Given the description of an element on the screen output the (x, y) to click on. 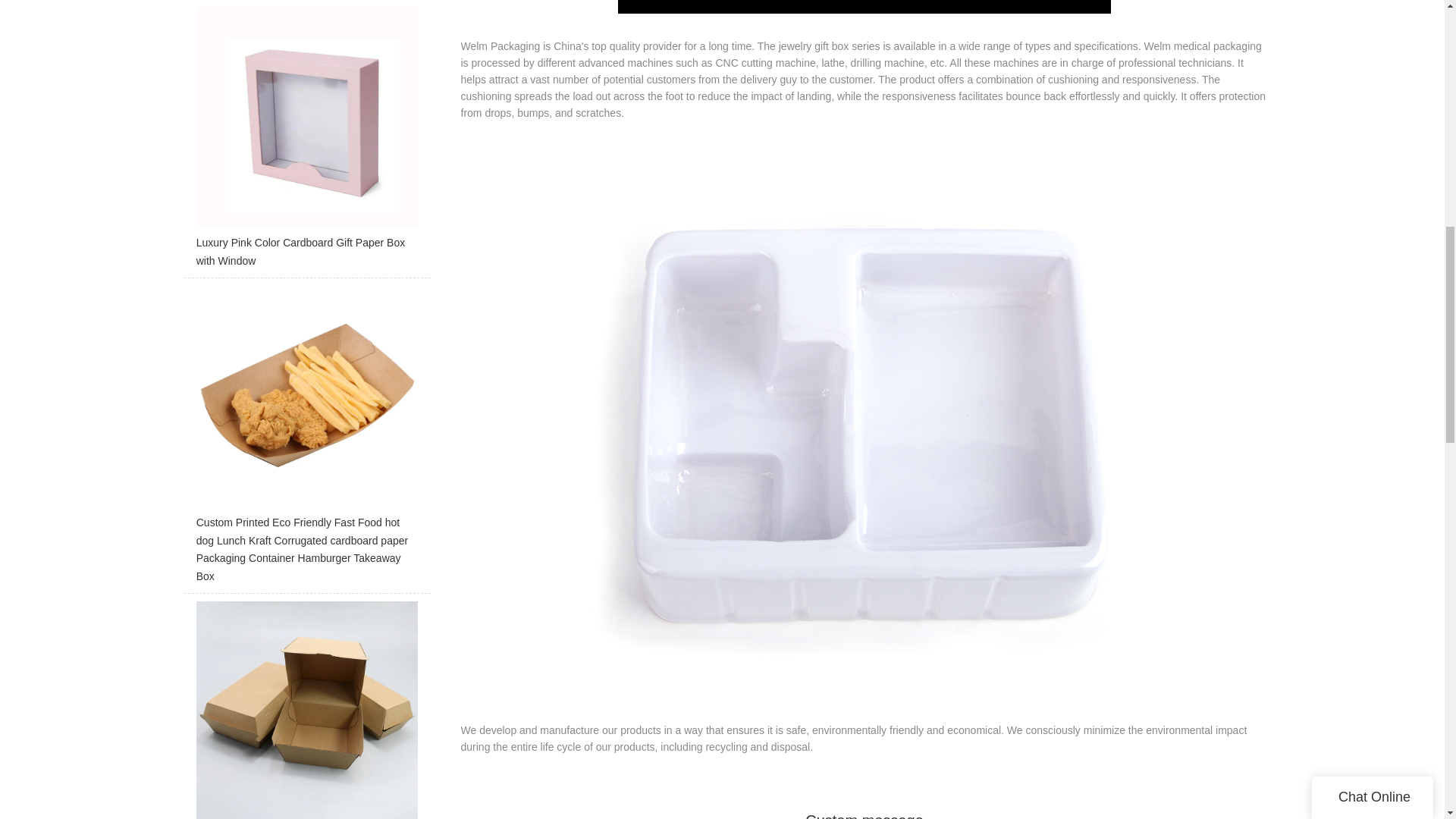
Luxury Pink Color Cardboard Gift Paper Box with Window (306, 141)
